Given the description of an element on the screen output the (x, y) to click on. 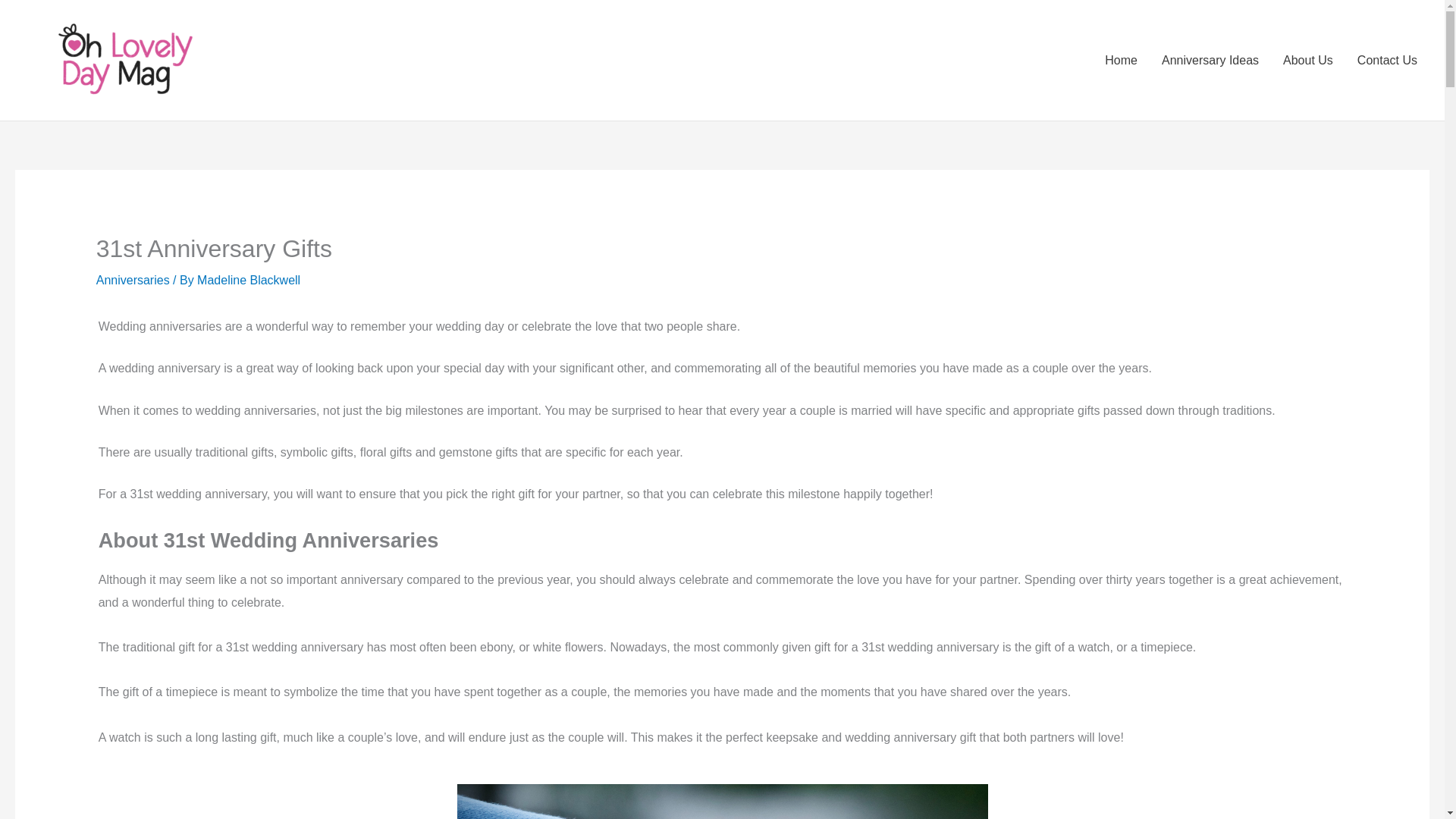
About Us (1308, 60)
View all posts by Madeline Blackwell (247, 279)
Madeline Blackwell (247, 279)
Anniversaries (133, 279)
Contact Us (1387, 60)
Home (1121, 60)
31st Anniversary Gifts (722, 801)
Anniversary Ideas (1210, 60)
